Given the description of an element on the screen output the (x, y) to click on. 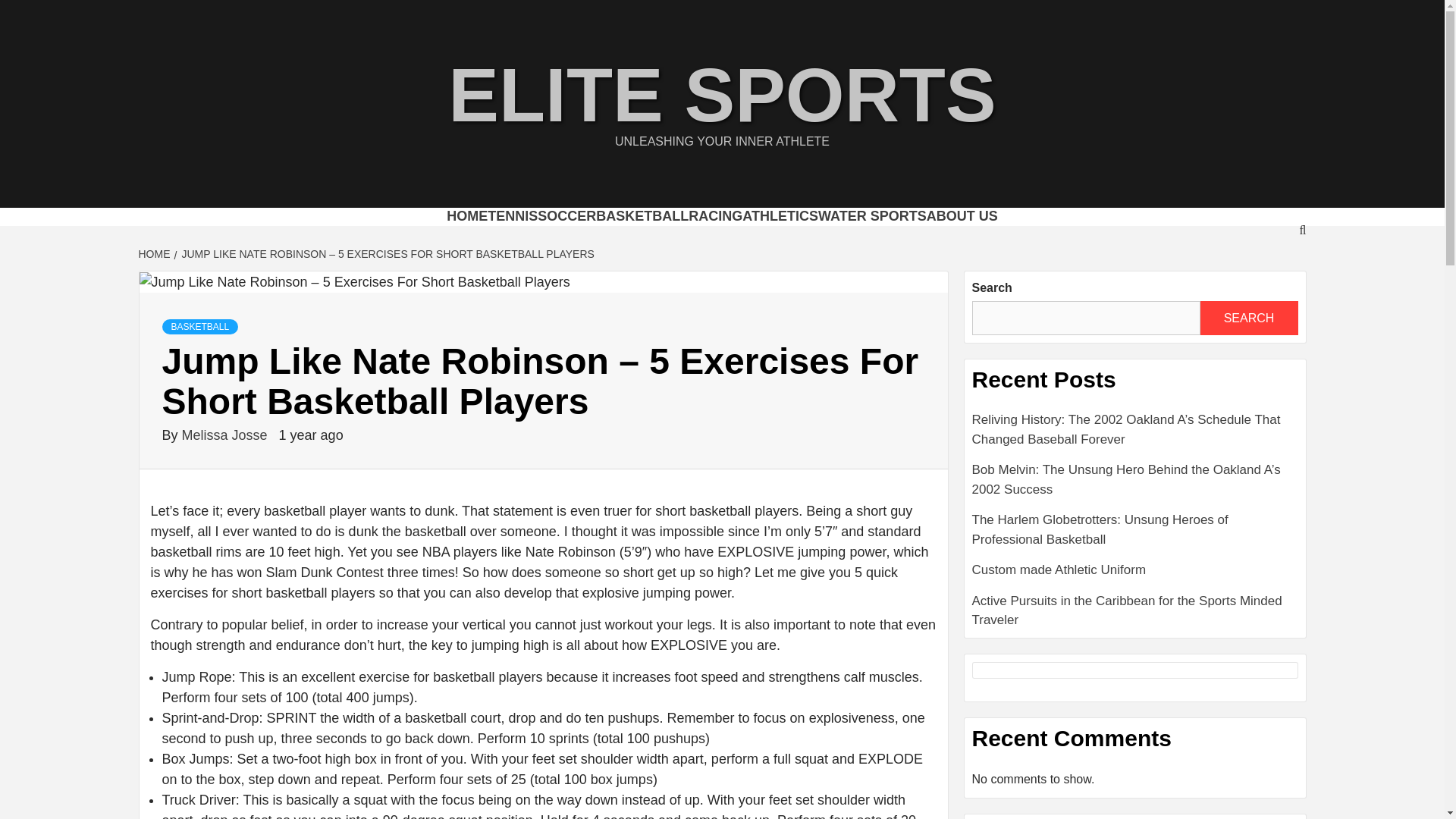
ABOUT US (961, 215)
HOME (155, 254)
BASKETBALL (641, 215)
Custom made Athletic Uniform (1135, 575)
TENNIS (512, 215)
ELITE SPORTS (721, 94)
SOCCER (566, 215)
HOME (466, 215)
ATHLETICS (780, 215)
BASKETBALL (199, 326)
RACING (715, 215)
SEARCH (1248, 317)
WATER SPORTS (872, 215)
